Given the description of an element on the screen output the (x, y) to click on. 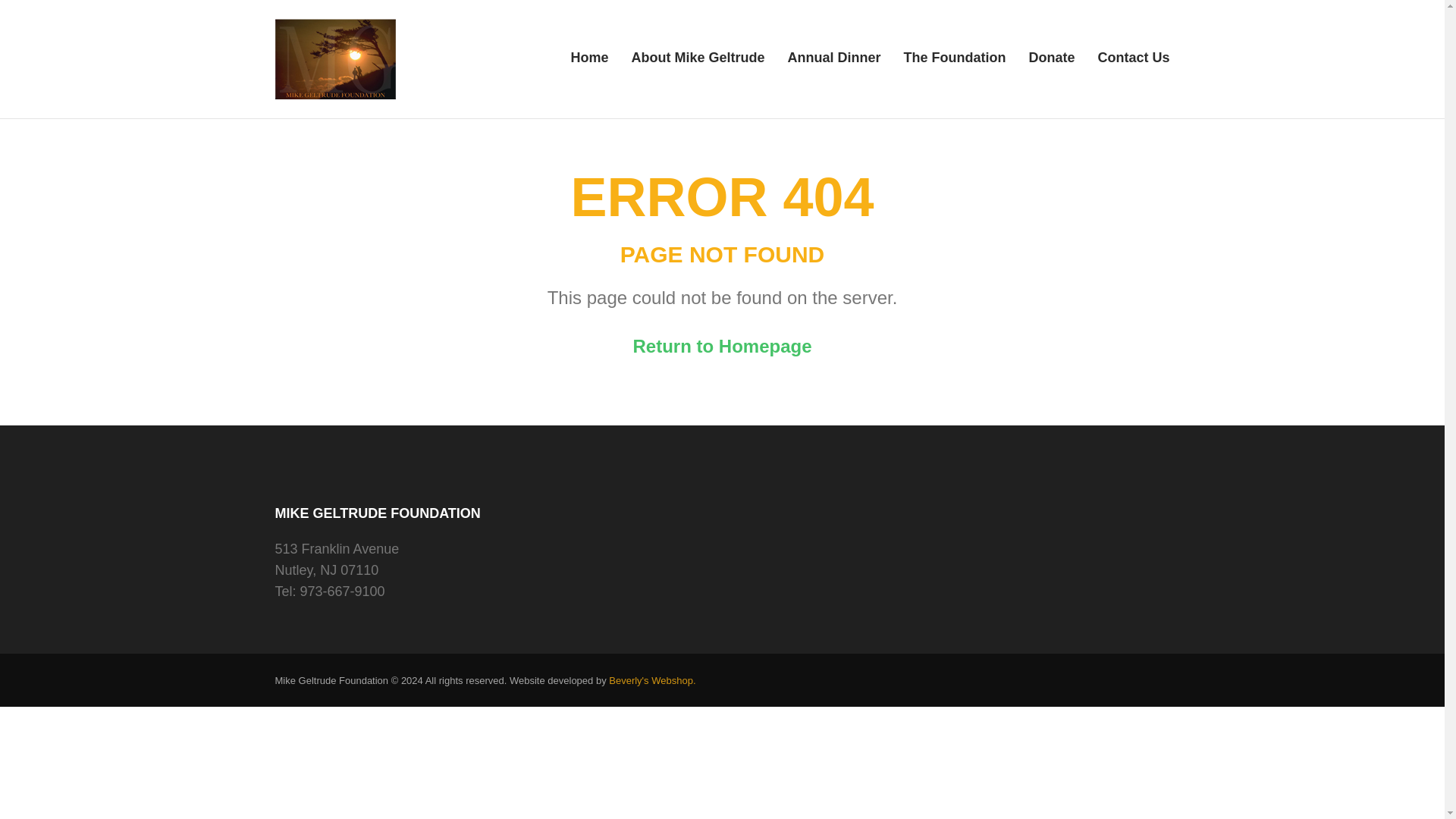
The Foundation (954, 62)
Contact Us (1133, 62)
Return to Homepage (720, 345)
Home (589, 62)
Beverly's Webshop. (651, 680)
Mike Geltrude Foundation (575, 69)
Annual Dinner (833, 62)
Donate (1050, 62)
About Mike Geltrude (697, 62)
